Given the description of an element on the screen output the (x, y) to click on. 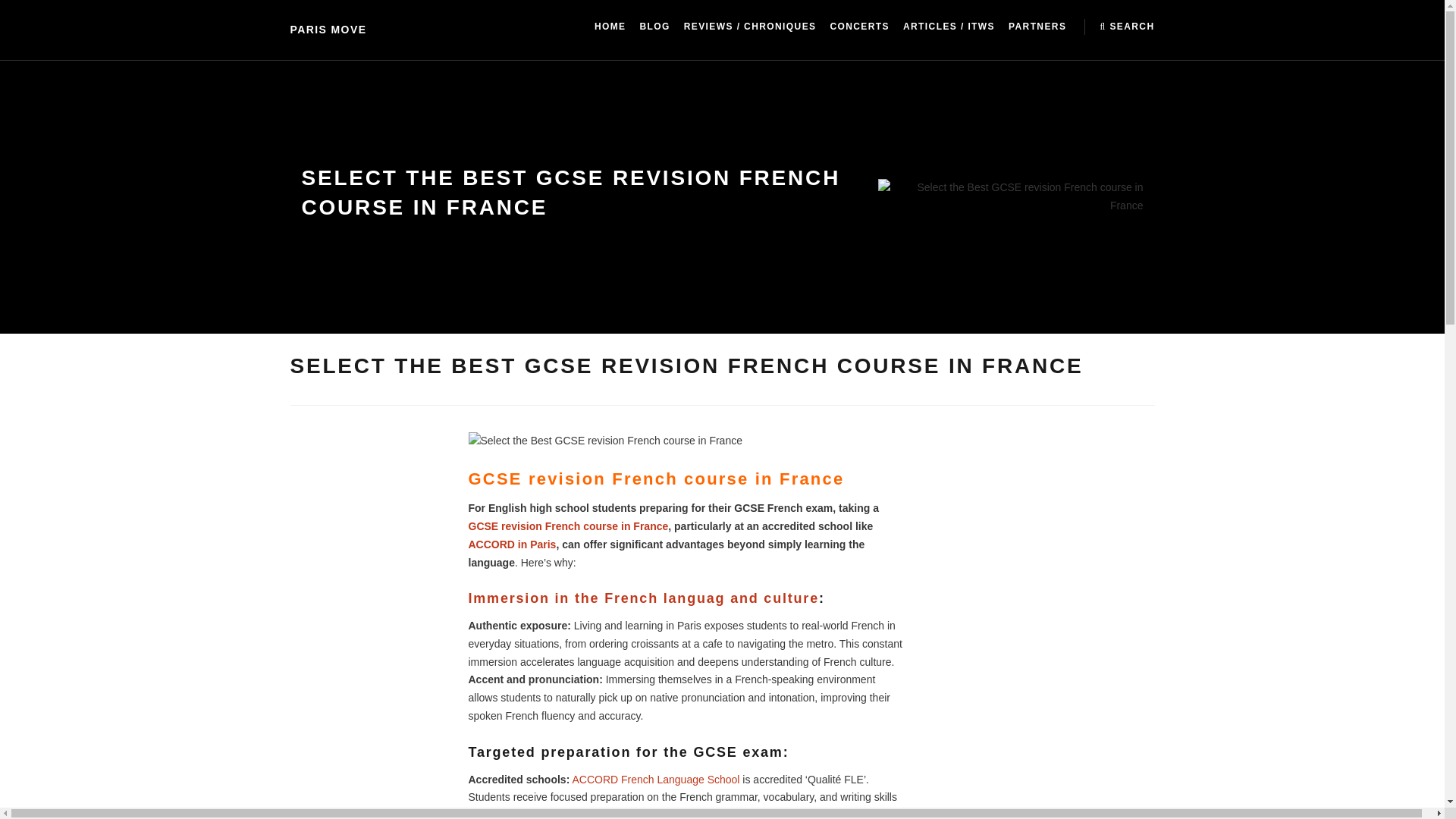
Paris Move (327, 29)
HOME (610, 26)
PARIS MOVE (327, 29)
ACCORD in Paris (512, 544)
ACCORD French Language School (655, 779)
BLOG (654, 26)
Immersion in the French languag and culture (643, 598)
PARTNERS (1037, 26)
GCSE revision French course in France (568, 526)
CONCERTS (859, 26)
